Given the description of an element on the screen output the (x, y) to click on. 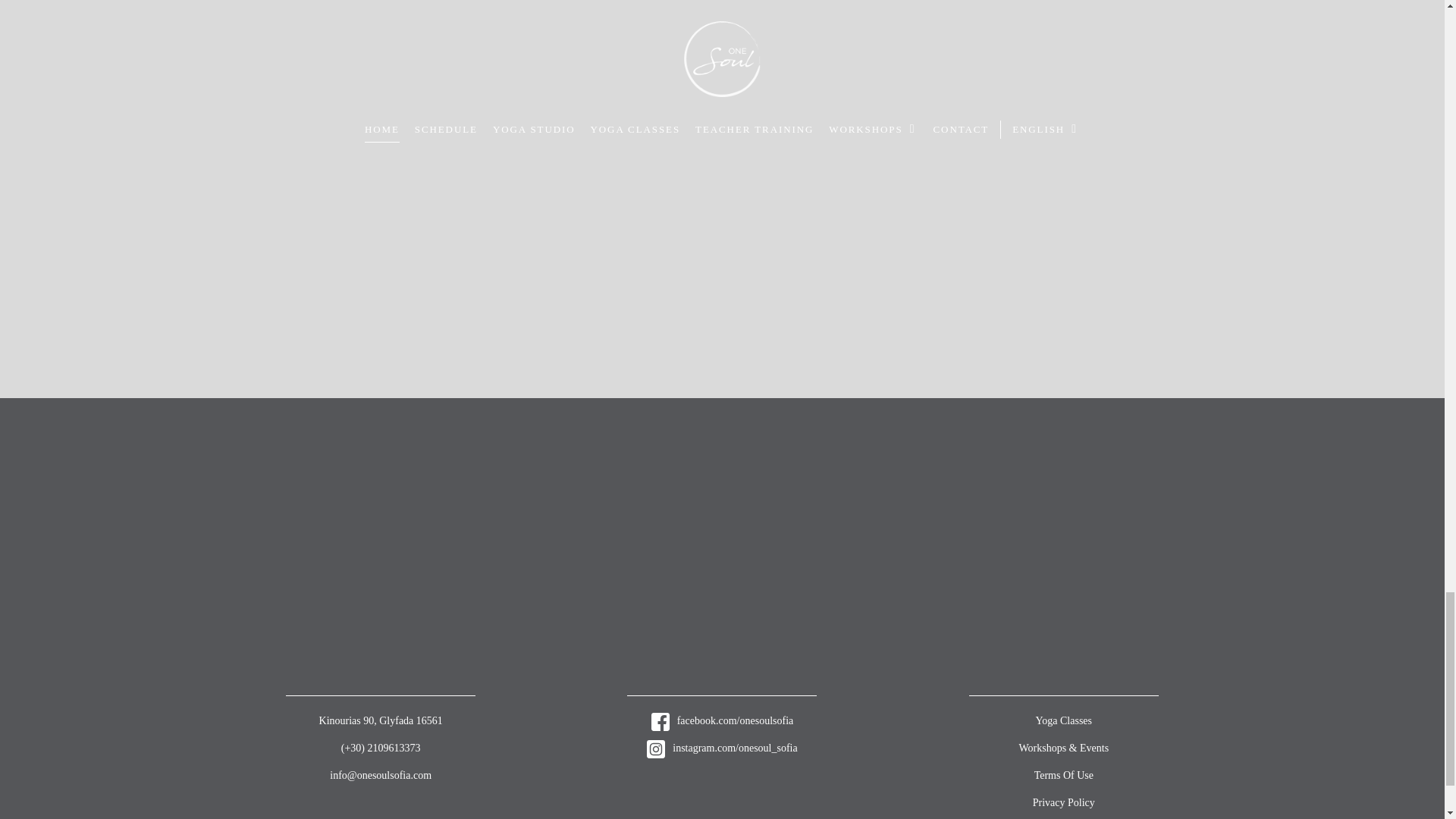
Privacy Policy (1063, 802)
Yoga Classes (1063, 720)
Terms Of Use (1063, 775)
